Given the description of an element on the screen output the (x, y) to click on. 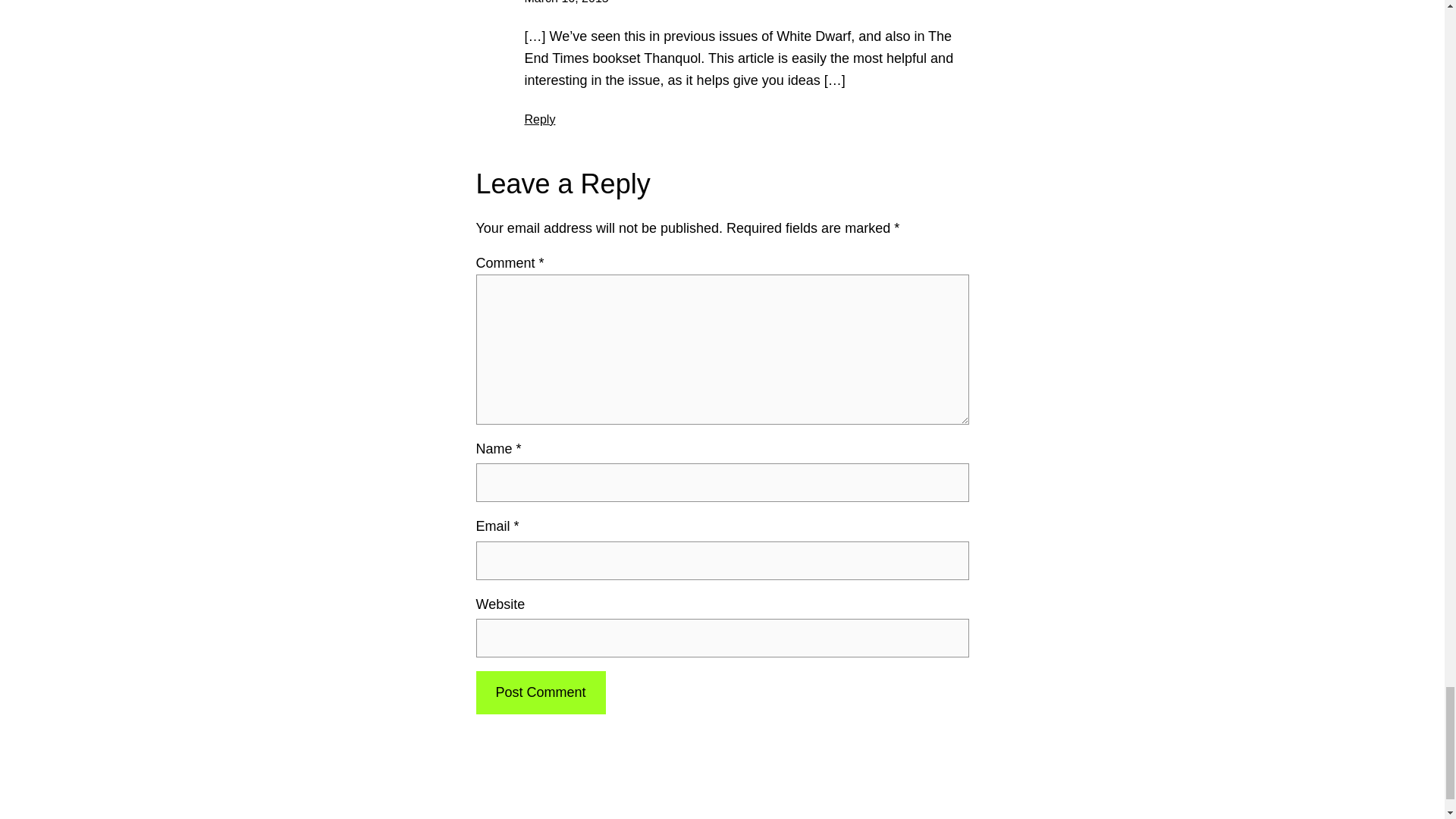
Reply (540, 119)
March 16, 2015 (566, 2)
Post Comment (540, 692)
Post Comment (540, 692)
